Given the description of an element on the screen output the (x, y) to click on. 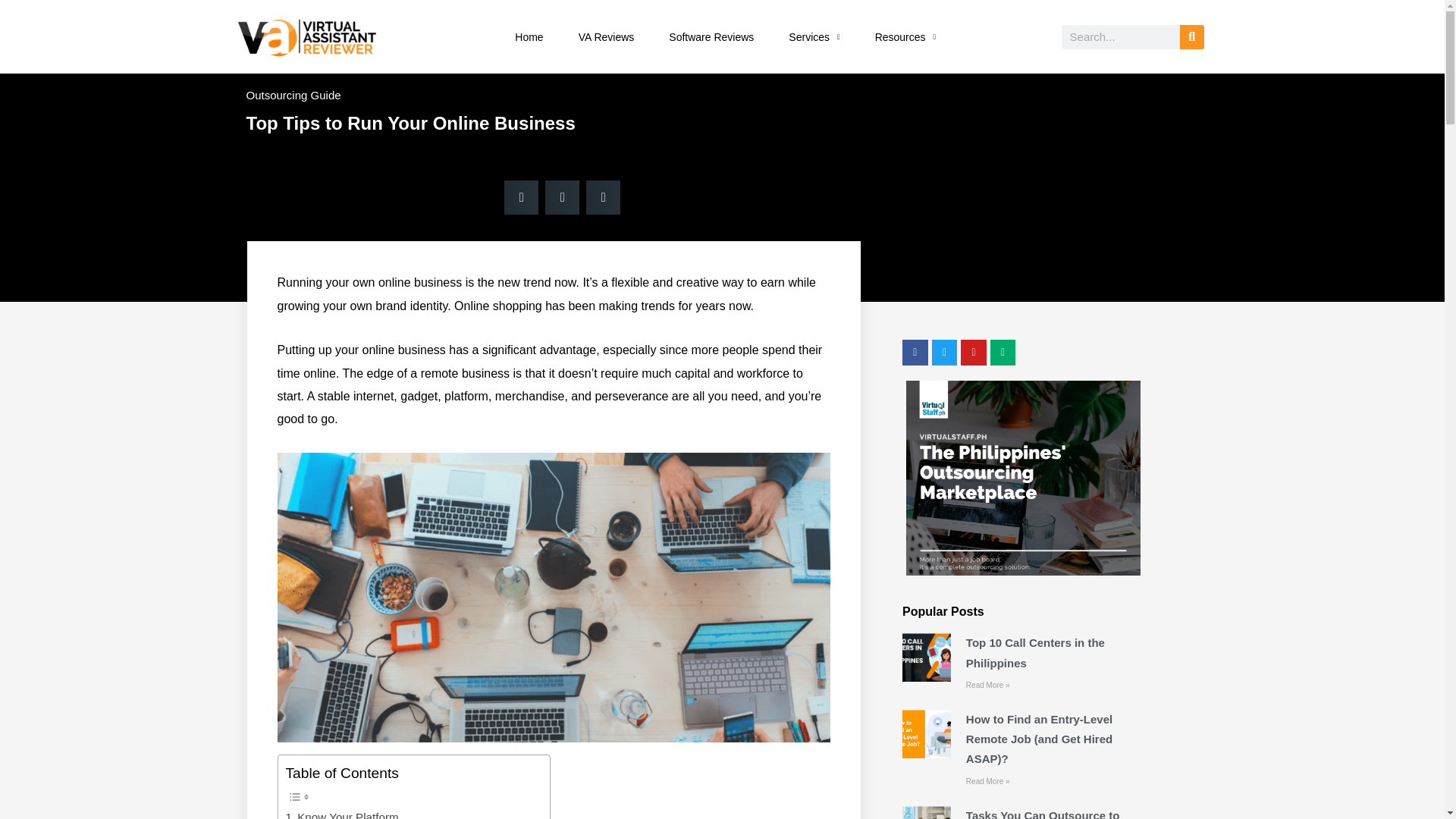
Know Your Platform (341, 813)
VA Reviews (606, 36)
Software Reviews (711, 36)
Resources (905, 36)
Services (814, 36)
